Given the description of an element on the screen output the (x, y) to click on. 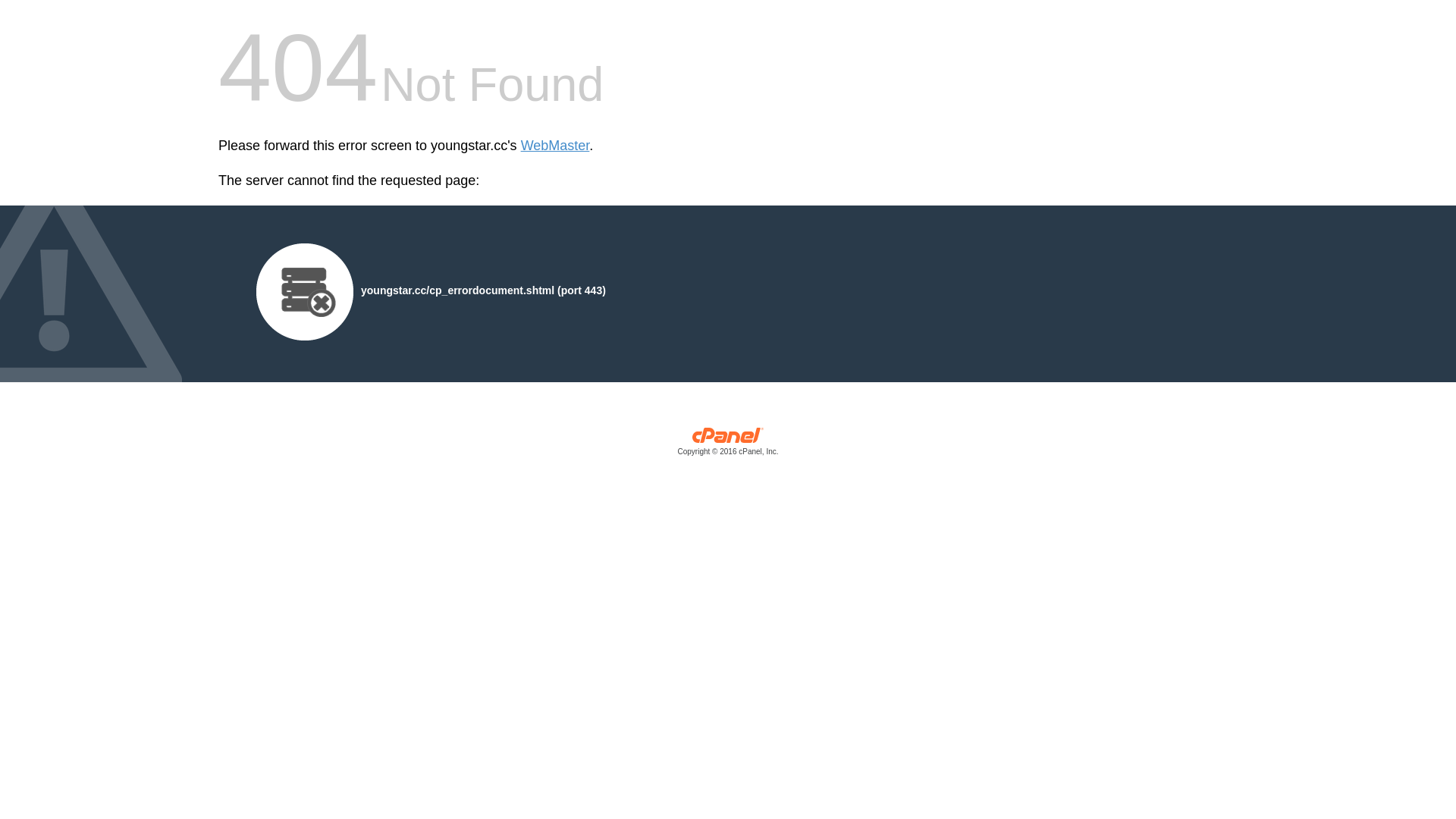
WebMaster Element type: text (554, 145)
